Given the description of an element on the screen output the (x, y) to click on. 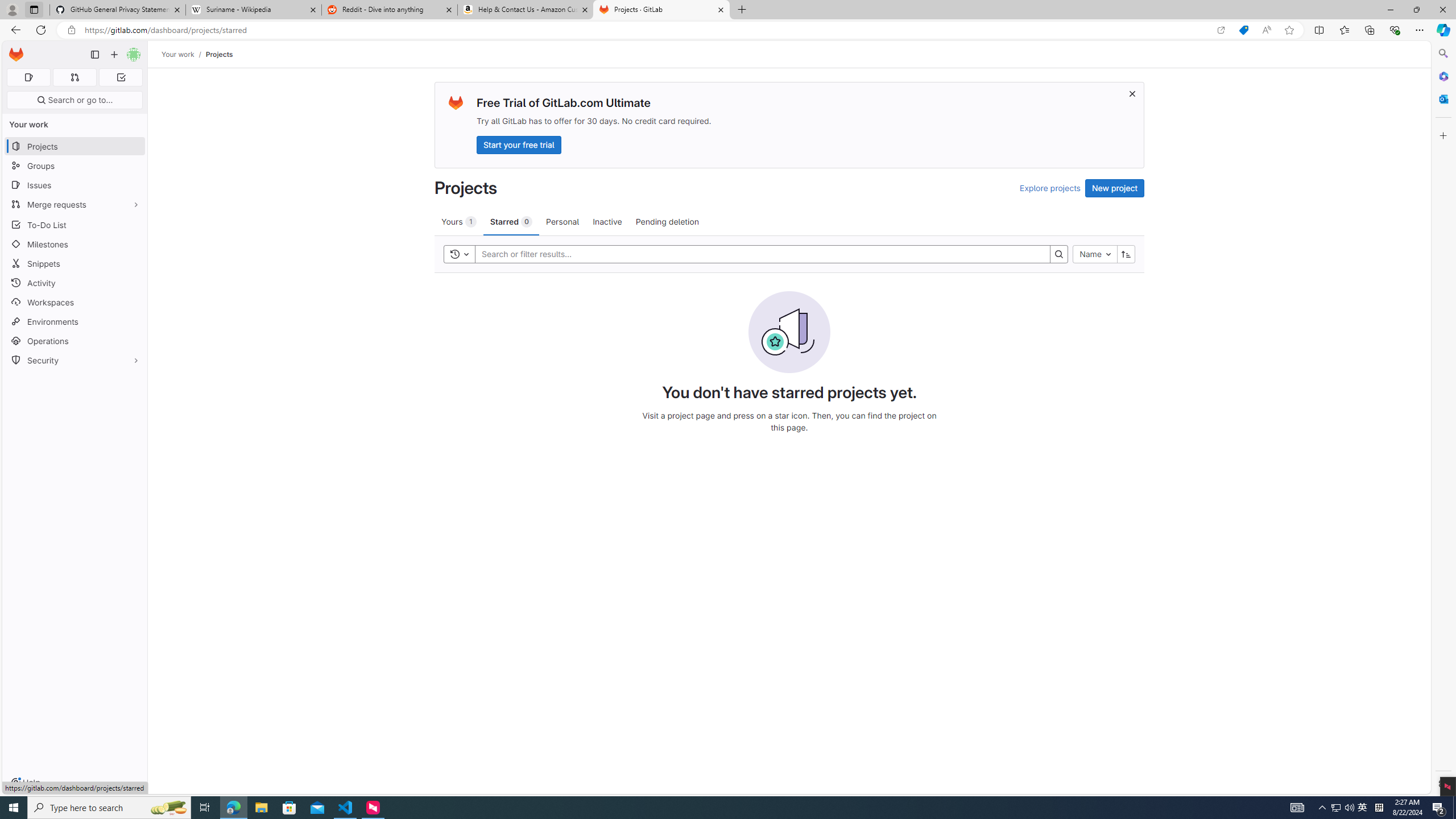
Merge requests 0 (74, 76)
Security (74, 359)
Operations (74, 340)
Issues (74, 185)
Skip to main content (13, 49)
Create new... (113, 54)
Your work/ (183, 53)
GitHub General Privacy Statement - GitHub Docs (117, 9)
Suriname - Wikipedia (253, 9)
Merge requests (74, 203)
